Given the description of an element on the screen output the (x, y) to click on. 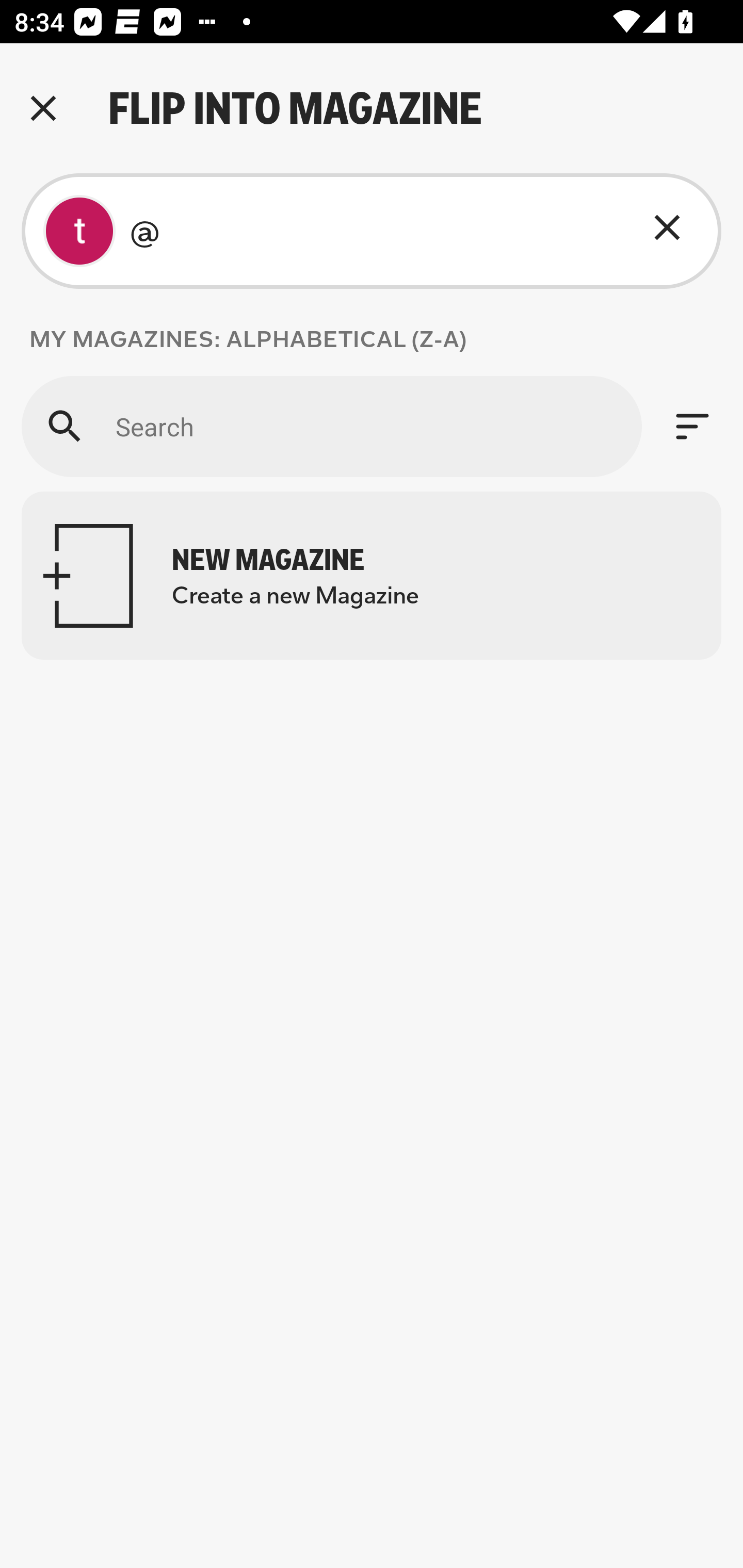
test appium @ (371, 231)
Search (331, 426)
NEW MAGAZINE Create a new Magazine (371, 575)
